Given the description of an element on the screen output the (x, y) to click on. 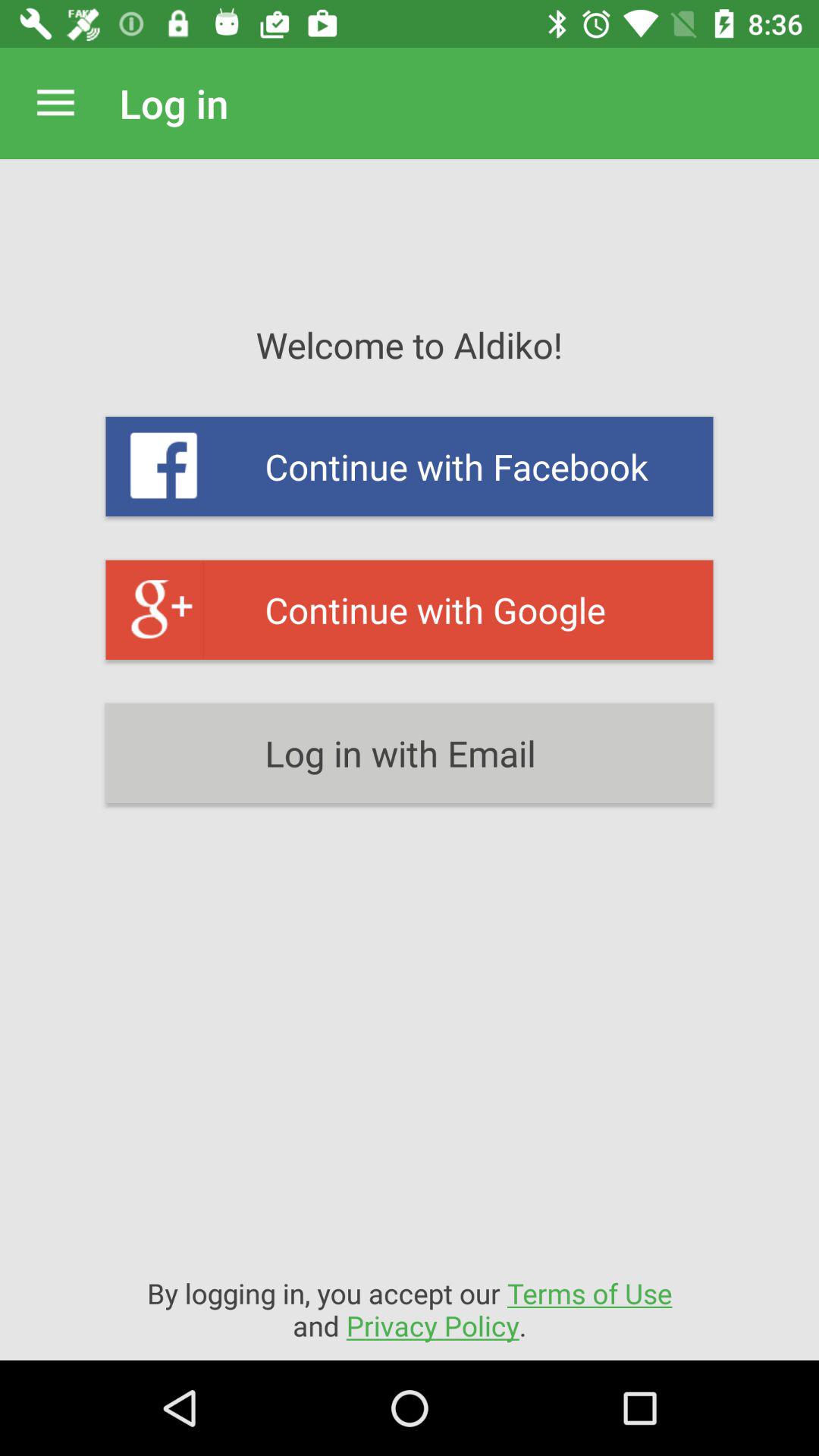
turn off item above the continue with facebook item (55, 103)
